Given the description of an element on the screen output the (x, y) to click on. 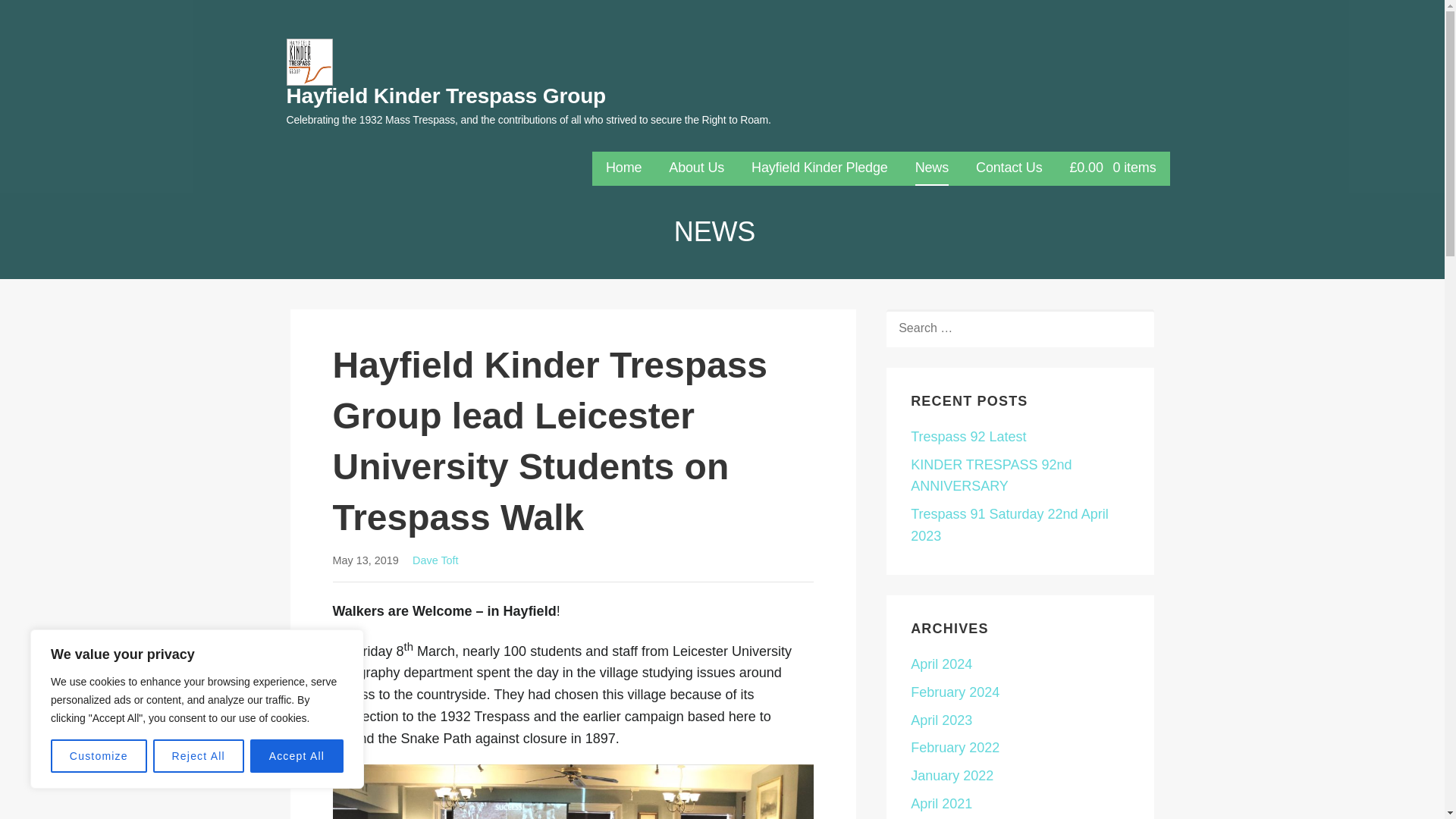
Hayfield Kinder Trespass Group (446, 95)
April 2023 (941, 720)
Dave Toft (435, 560)
About Us (695, 168)
February 2022 (954, 747)
Hayfield Kinder Pledge (819, 168)
Posts by Dave Toft (435, 560)
April 2024 (941, 663)
Trespass 92 Latest (968, 436)
Reject All (198, 756)
News (932, 168)
January 2022 (951, 775)
February 2024 (954, 692)
Accept All (296, 756)
Search (47, 17)
